Given the description of an element on the screen output the (x, y) to click on. 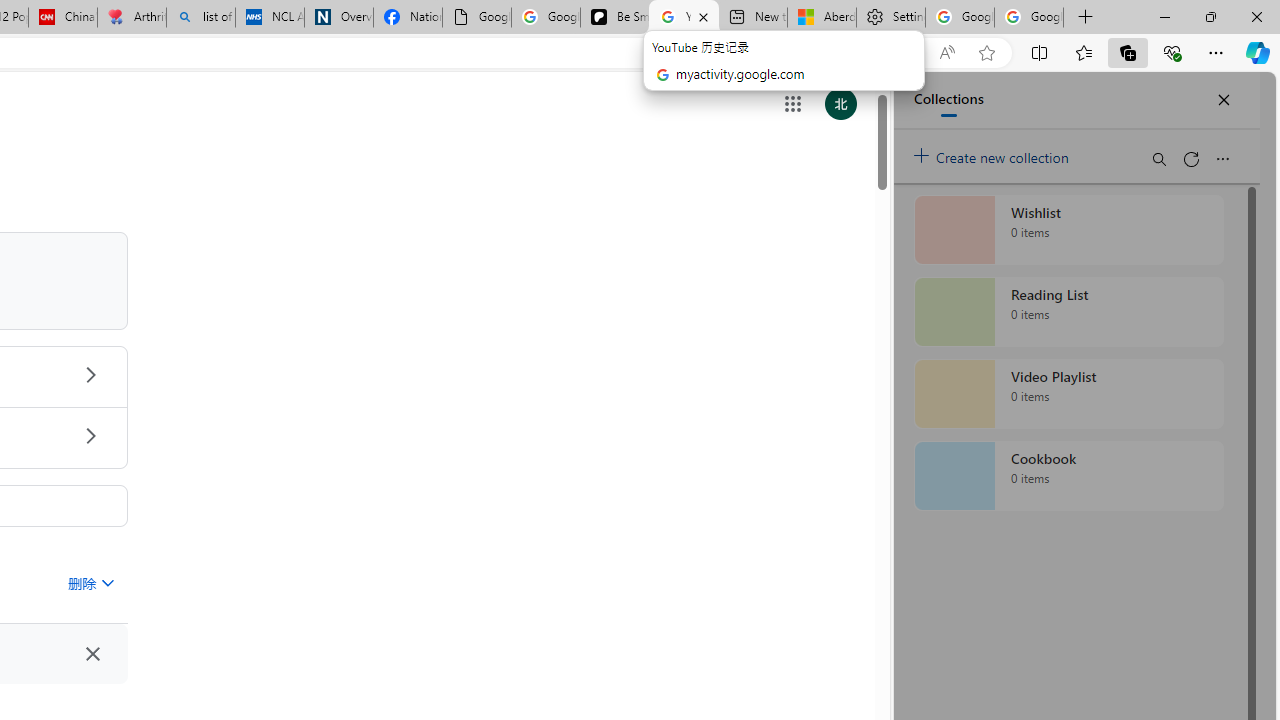
Class: gb_E (792, 103)
Class: gD71Gb NMm5M hhikbc (90, 435)
Aberdeen, Hong Kong SAR hourly forecast | Microsoft Weather (822, 17)
Google Analytics Opt-out Browser Add-on Download Page (476, 17)
